Given the description of an element on the screen output the (x, y) to click on. 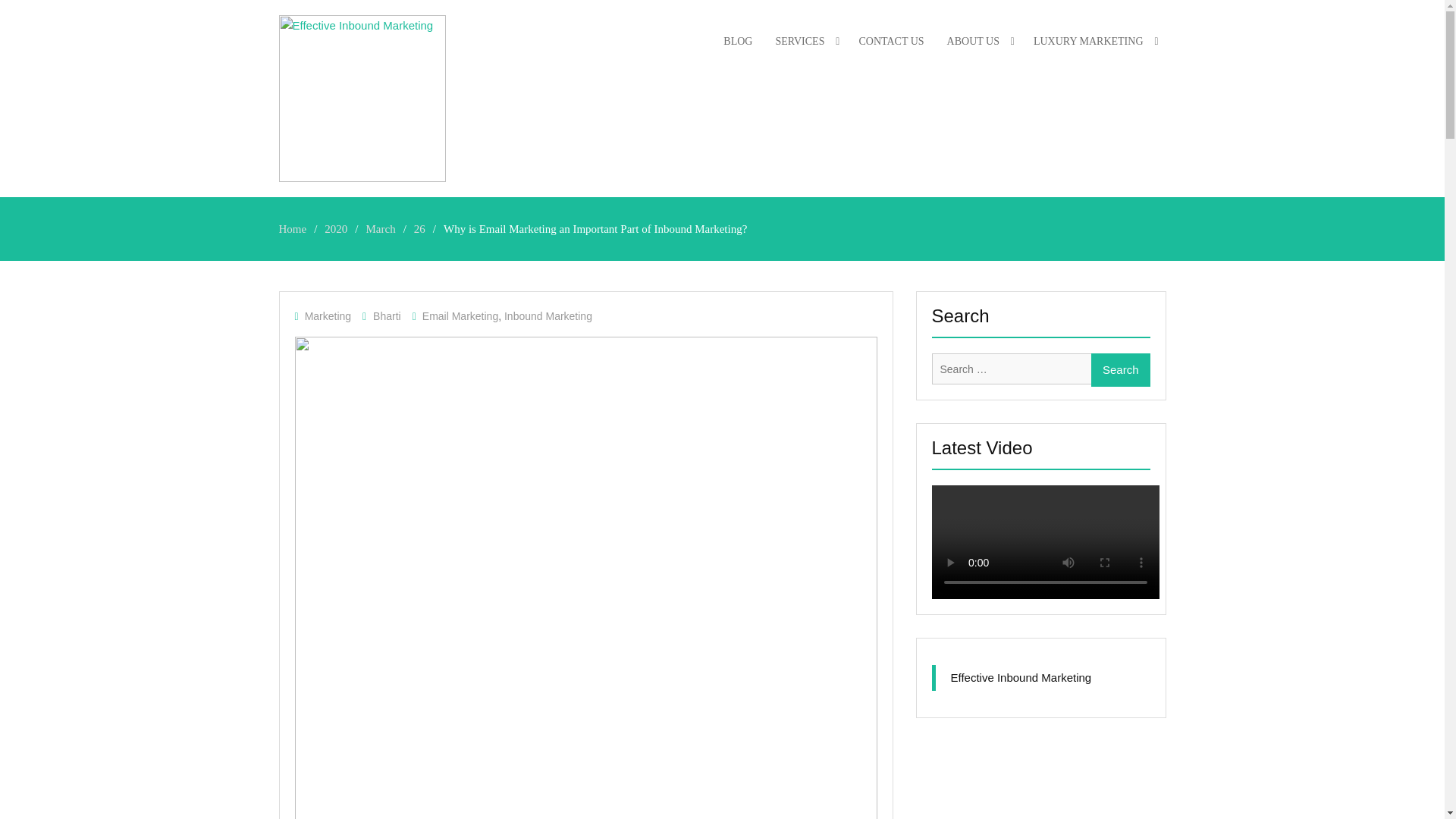
Search (1120, 369)
Home (293, 228)
Search (1120, 369)
CONTACT US (890, 41)
BLOG (736, 41)
Read our latest blog posts (736, 41)
Search (1120, 369)
Inbound Marketing (547, 316)
March (381, 228)
Bharti (386, 316)
SERVICES (804, 41)
2020 (335, 228)
26 (419, 228)
LUXURY MARKETING (1094, 41)
Email Marketing (459, 316)
